Given the description of an element on the screen output the (x, y) to click on. 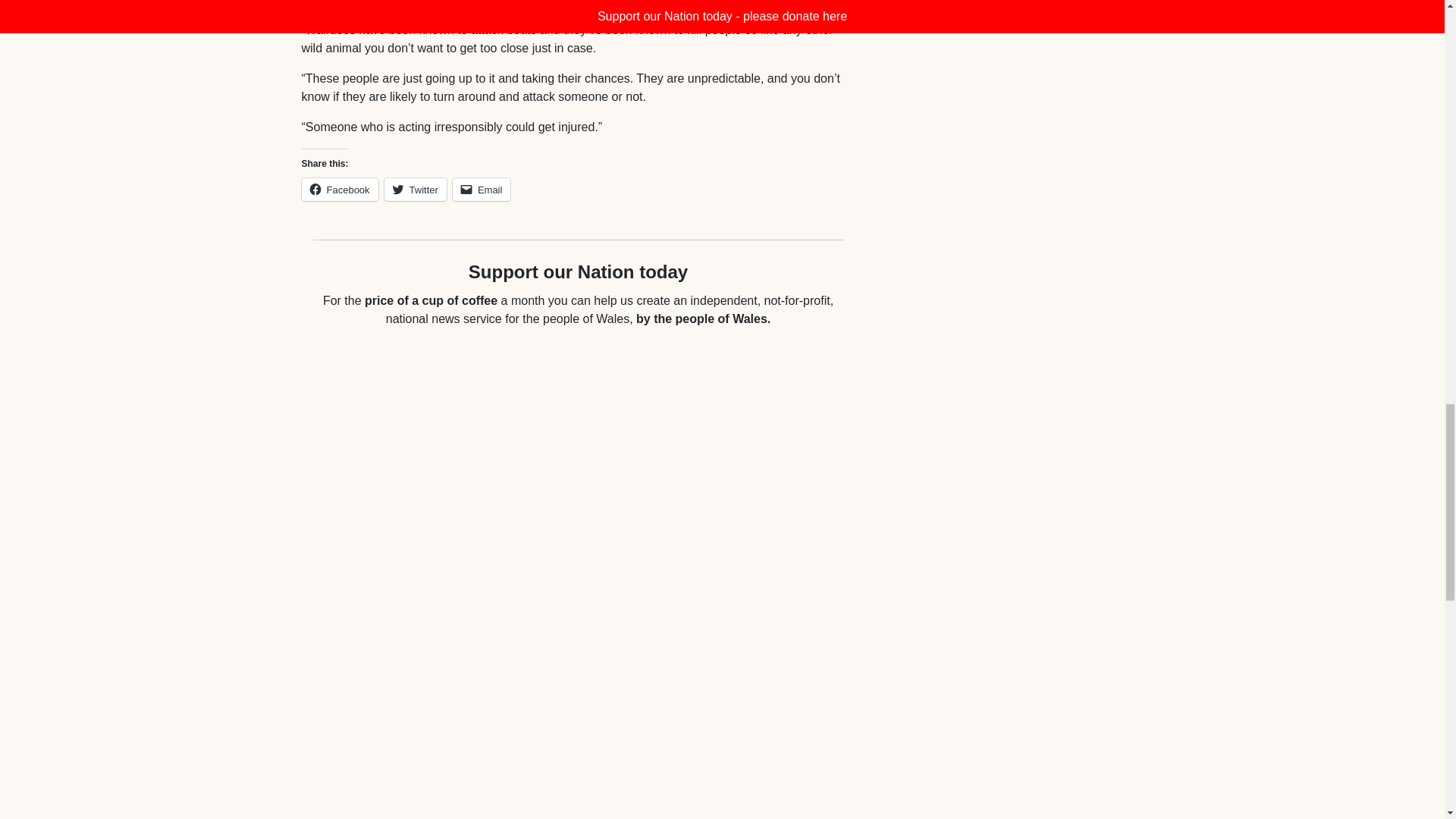
Click to email a link to a friend (481, 189)
Click to share on Facebook (339, 189)
Email (481, 189)
Facebook (339, 189)
Click to share on Twitter (415, 189)
Twitter (415, 189)
